Given the description of an element on the screen output the (x, y) to click on. 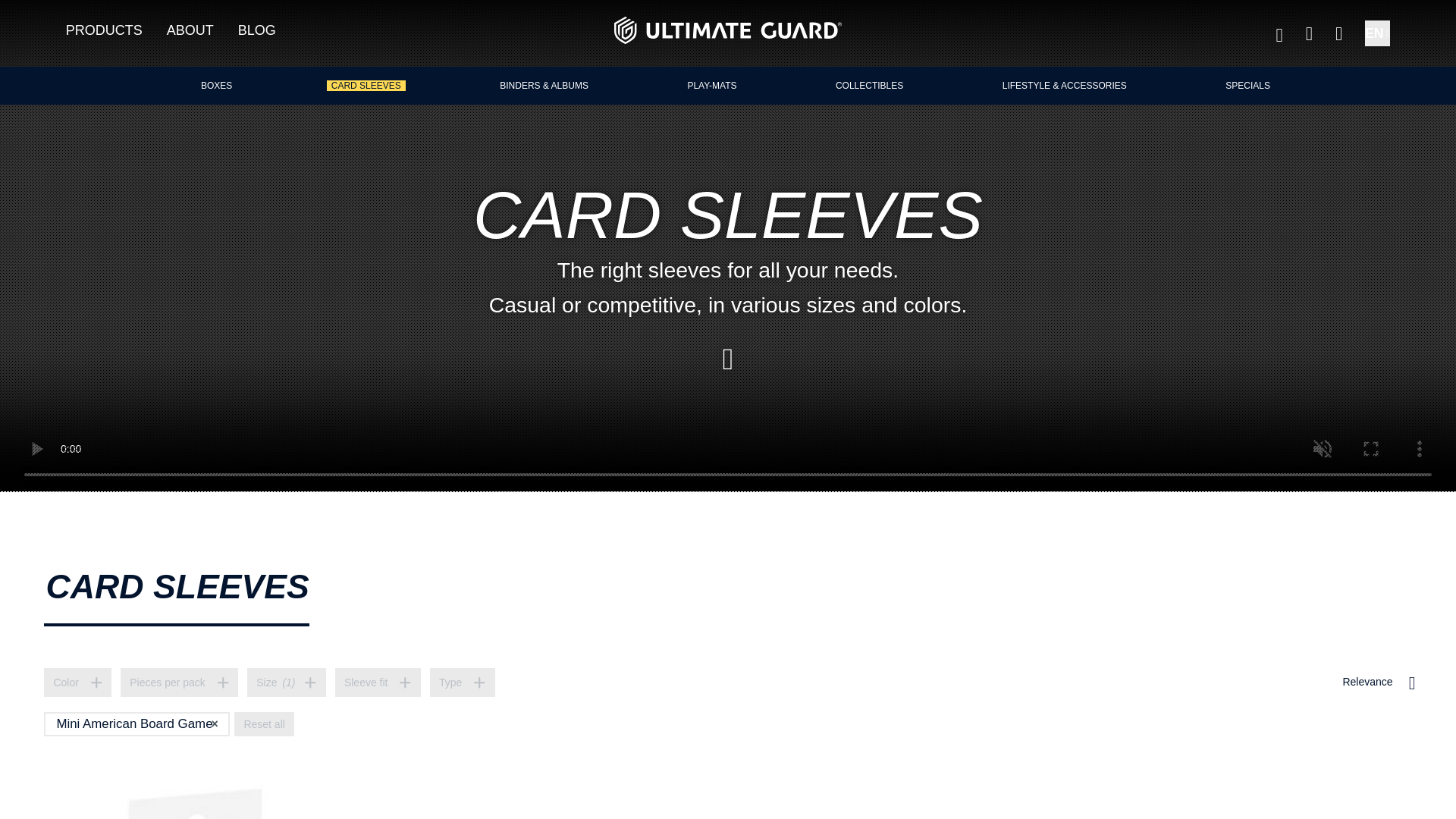
BLOG (268, 33)
PLAY-MATS (710, 85)
Wishlist (1279, 31)
Go to homepage (726, 30)
About (202, 33)
COLLECTIBLES (869, 85)
Products (116, 33)
BOXES (215, 85)
EN (1377, 32)
SPECIALS (1247, 85)
CARD SLEEVES (365, 85)
STORE FINDER (1338, 33)
Blog (268, 33)
